Given the description of an element on the screen output the (x, y) to click on. 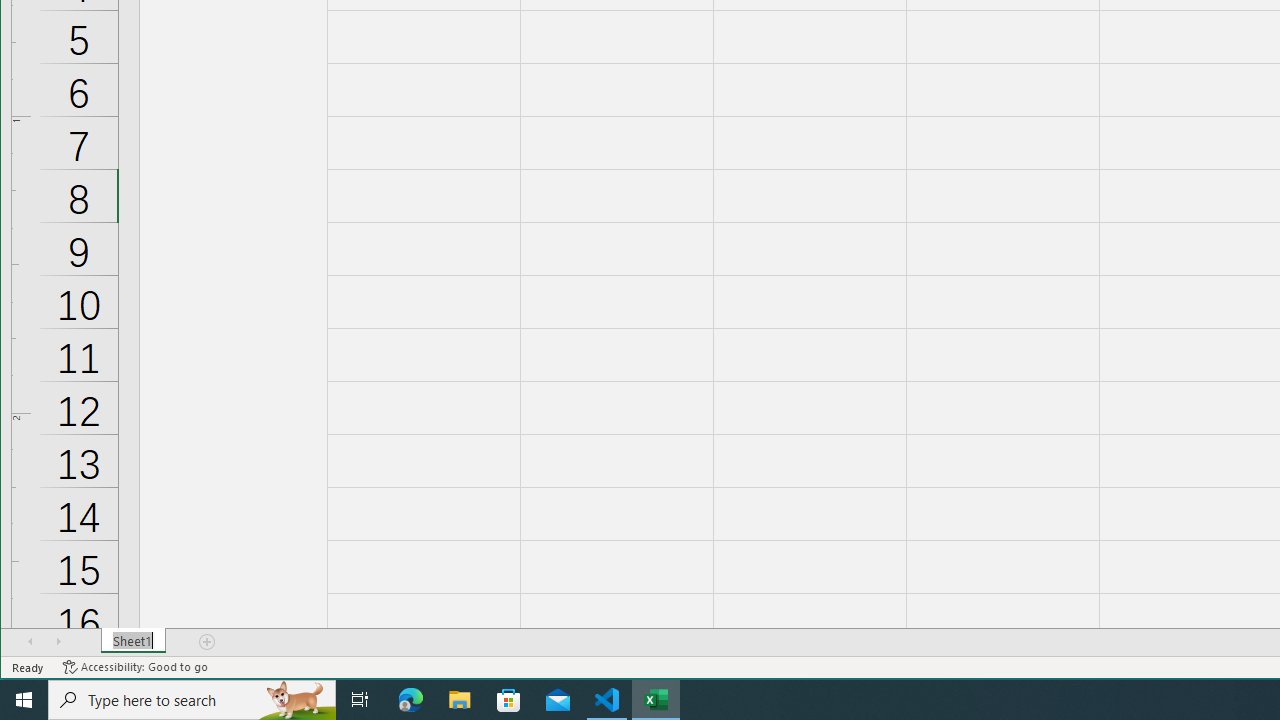
Microsoft Store (509, 699)
Search highlights icon opens search home window (295, 699)
Excel - 1 running window (656, 699)
Task View (359, 699)
Start (24, 699)
Microsoft Edge (411, 699)
Sheet Tab (133, 641)
Type here to search (191, 699)
Visual Studio Code - 1 running window (607, 699)
